Given the description of an element on the screen output the (x, y) to click on. 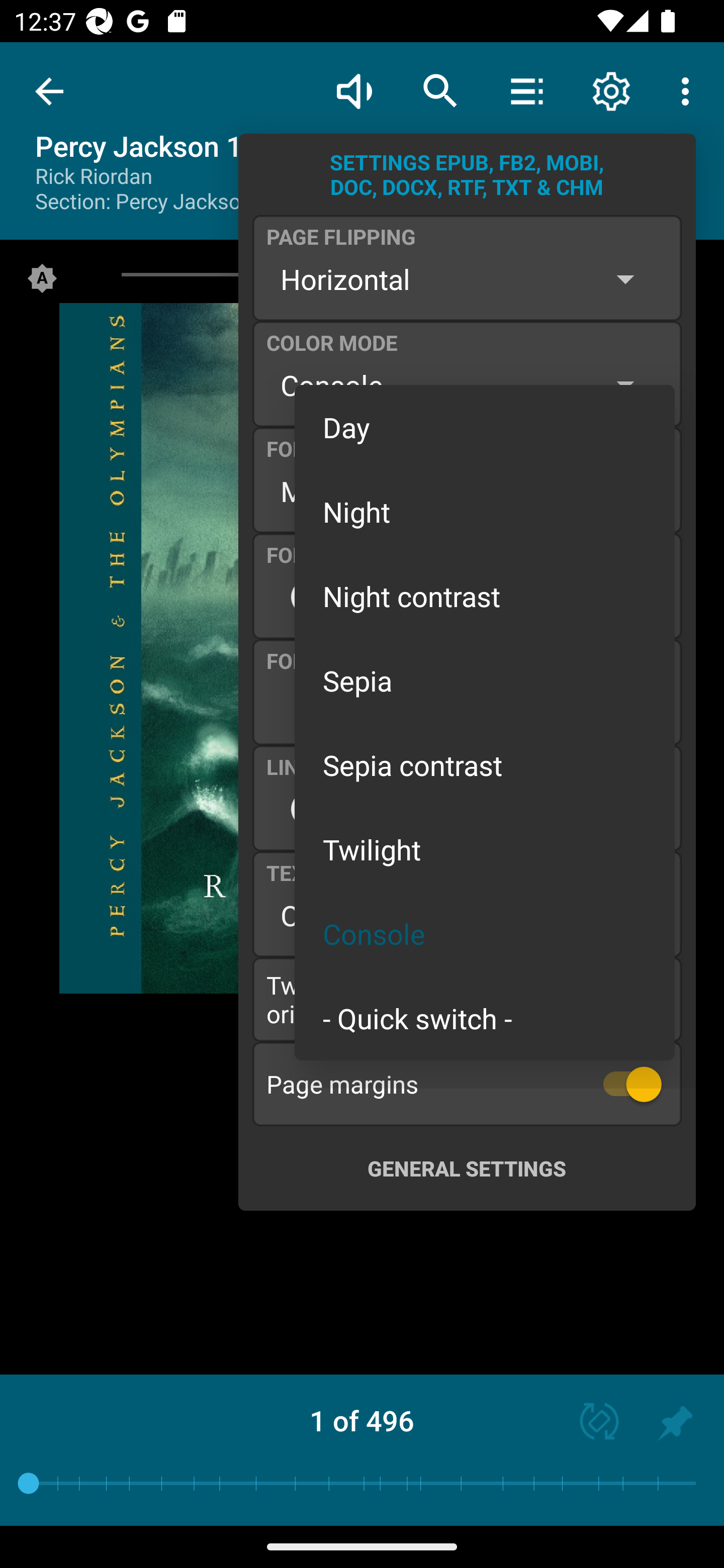
Day (484, 426)
Night (484, 510)
Night contrast (484, 595)
Sepia (484, 680)
Sepia contrast (484, 764)
Twilight (484, 849)
Console (484, 933)
- Quick switch - (484, 1017)
